Given the description of an element on the screen output the (x, y) to click on. 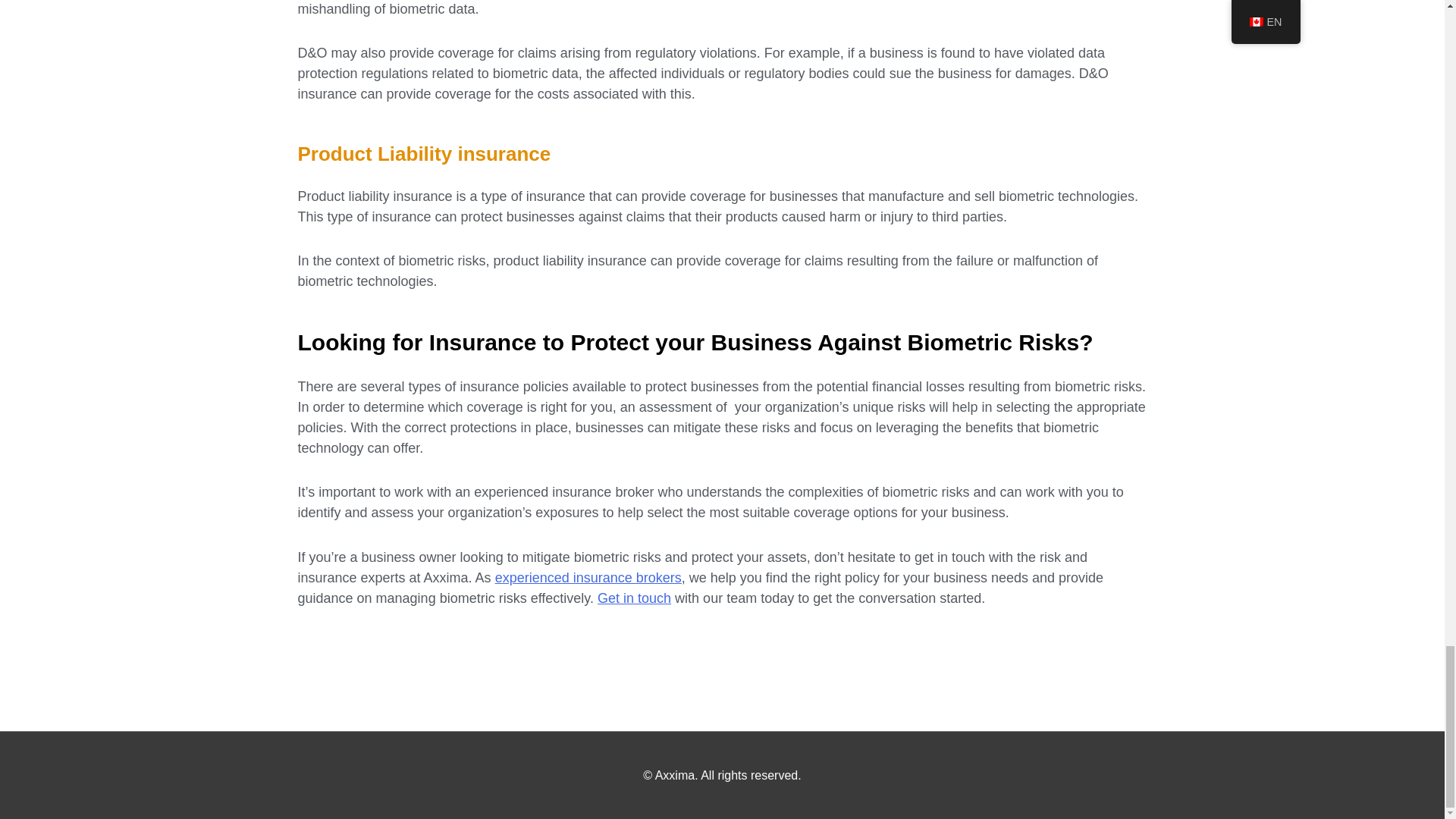
Get in touch (633, 598)
experienced insurance brokers (588, 577)
